Given the description of an element on the screen output the (x, y) to click on. 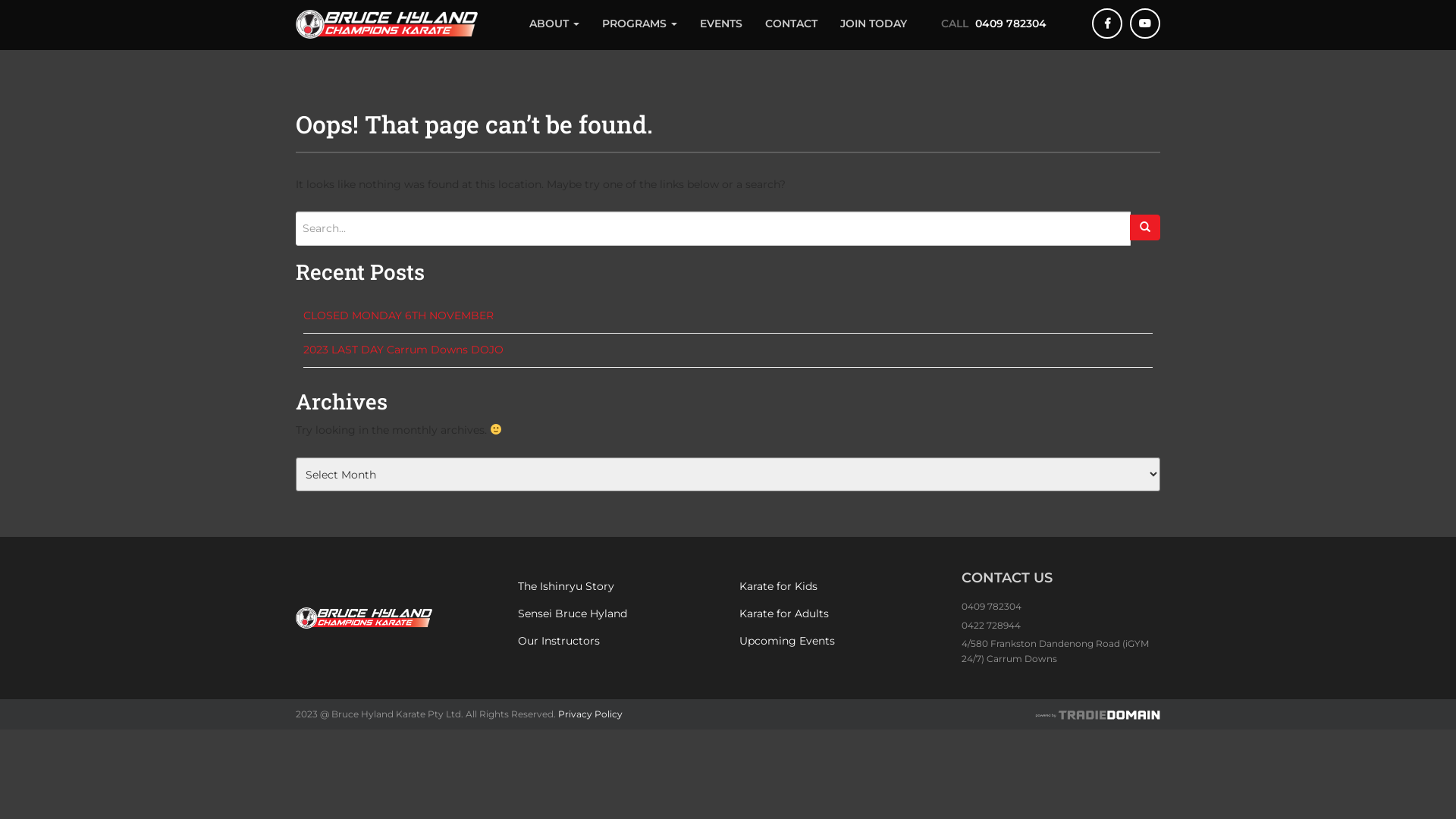
CALL 0409 782304 Element type: text (1012, 23)
Privacy Policy Element type: text (590, 713)
Karate for Kids Element type: text (838, 586)
Upcoming Events Element type: text (838, 641)
Sensei Bruce Hyland Element type: text (616, 613)
CLOSED MONDAY 6TH NOVEMBER Element type: text (398, 315)
Our Instructors Element type: text (616, 641)
2023 LAST DAY Carrum Downs DOJO Element type: text (403, 349)
Karate for Adults Element type: text (838, 613)
The Ishinryu Story Element type: text (616, 586)
Go Element type: text (1144, 227)
